Given the description of an element on the screen output the (x, y) to click on. 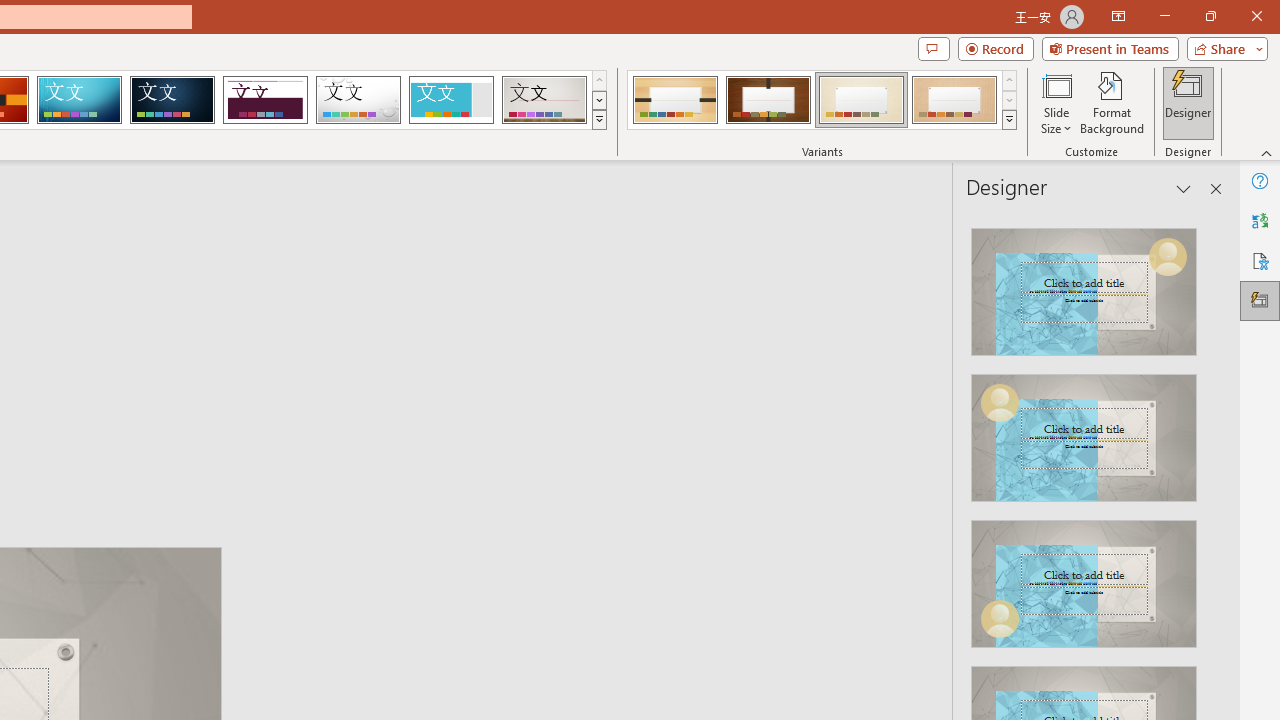
Run Python File (1067, 321)
Copilot (Ctrl+Shift+.) (1241, 82)
Open Changes (1137, 321)
icon (1131, 198)
Toggle Primary Side Bar (Ctrl+B) (1108, 265)
C4.2% M6.0% (981, 202)
